Given the description of an element on the screen output the (x, y) to click on. 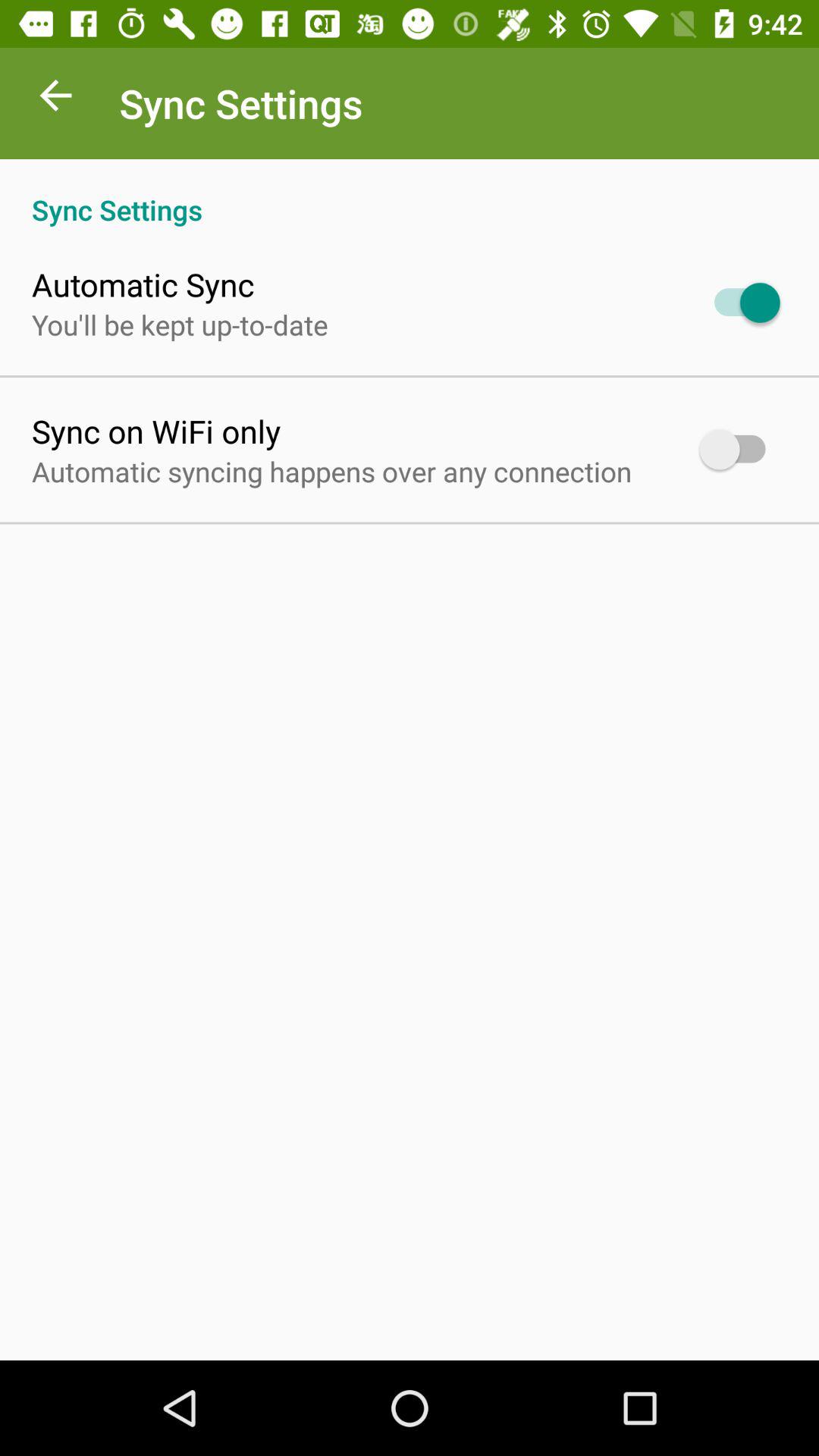
open the sync on wifi item (155, 430)
